Given the description of an element on the screen output the (x, y) to click on. 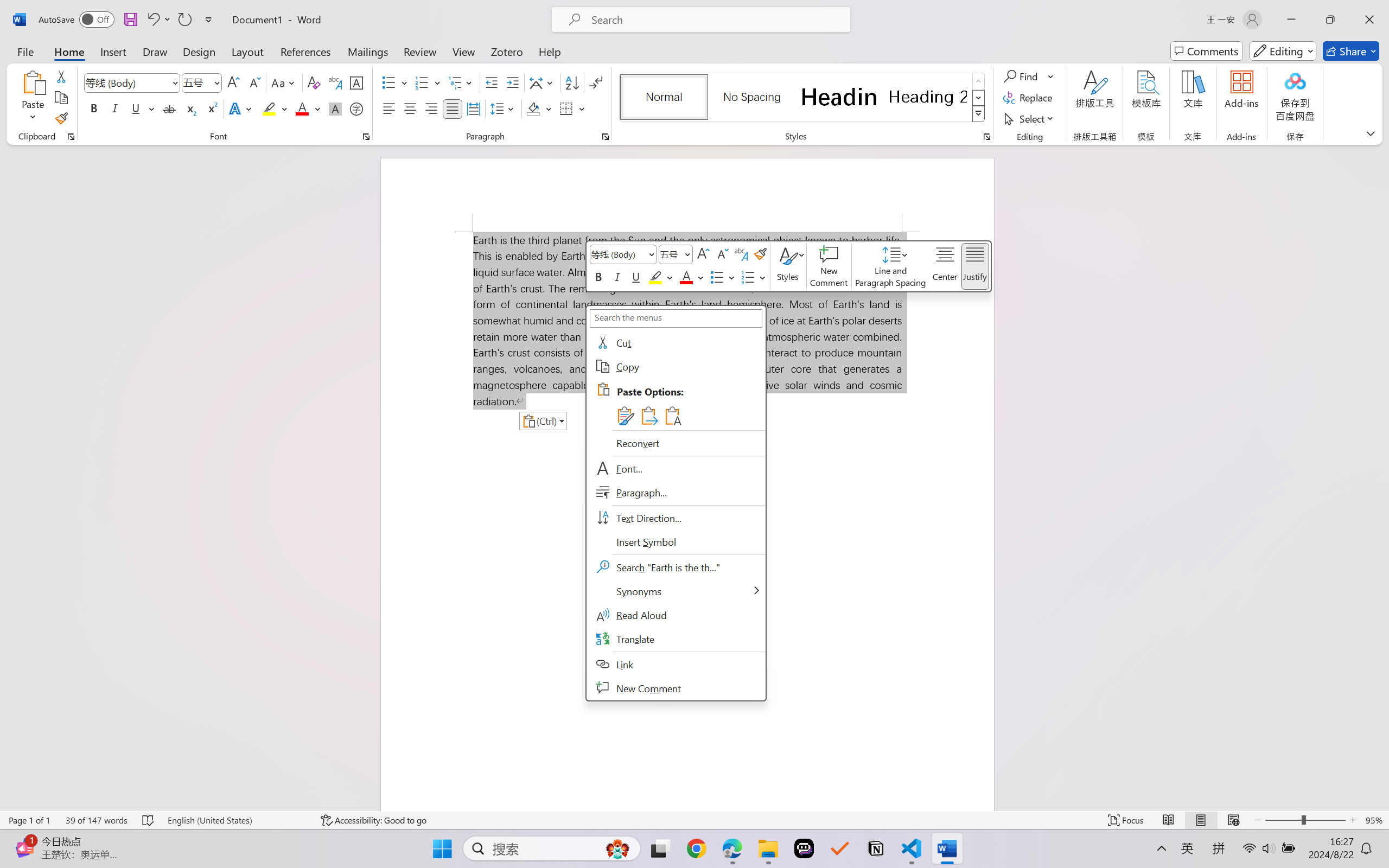
Zoom 95% (1374, 819)
Grow Font (233, 82)
Keep Source Formatting (624, 415)
Notion (875, 848)
Paragraph... (675, 492)
Copy (60, 97)
